Given the description of an element on the screen output the (x, y) to click on. 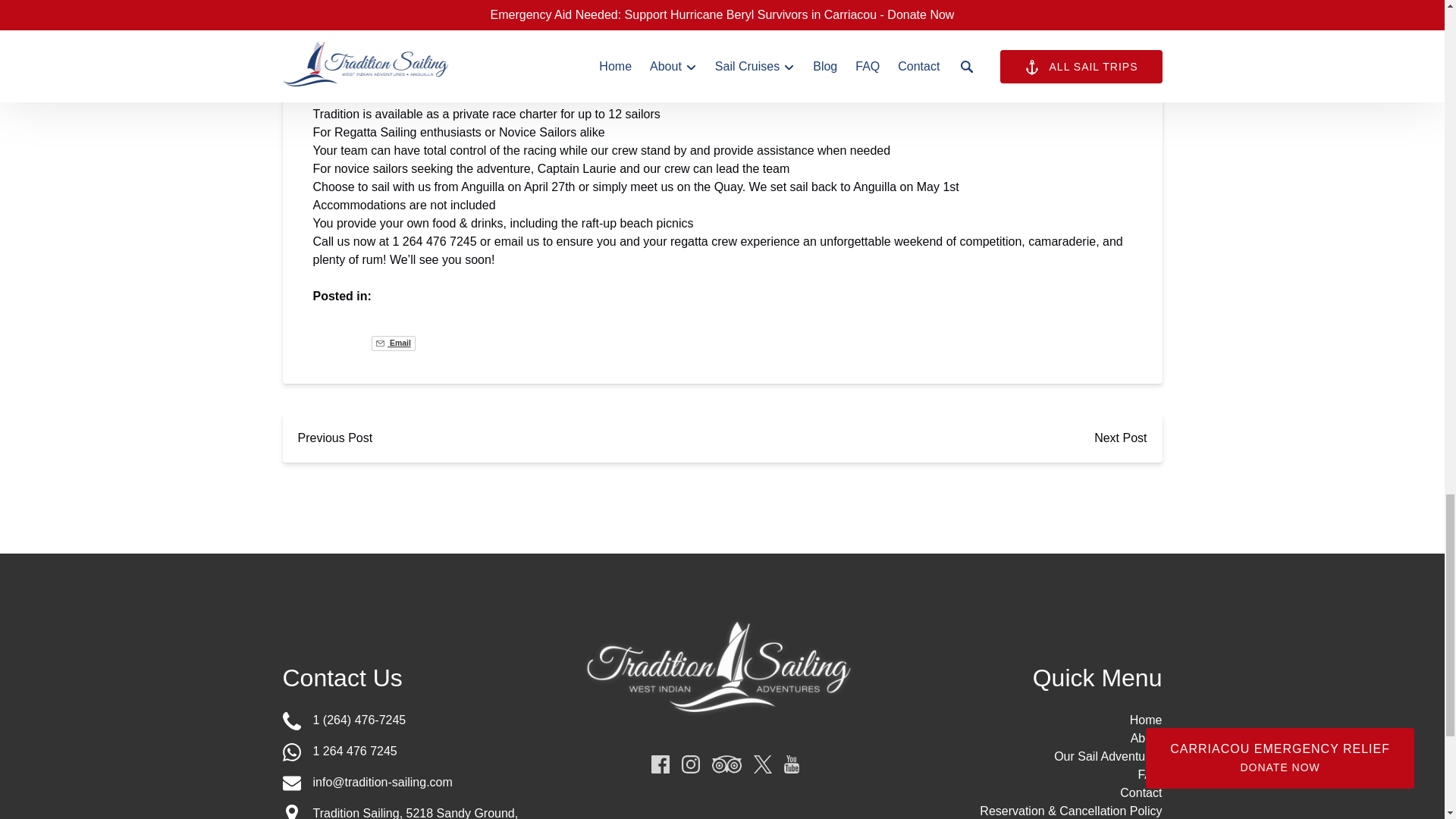
Phone (290, 720)
Tradition Sailing, 5218 Sandy Ground, (415, 812)
Map Marker (290, 811)
Envelope (290, 782)
1 264 476 7245 (418, 751)
Next Post (1119, 438)
Previous Post (334, 438)
Email (392, 343)
